Given the description of an element on the screen output the (x, y) to click on. 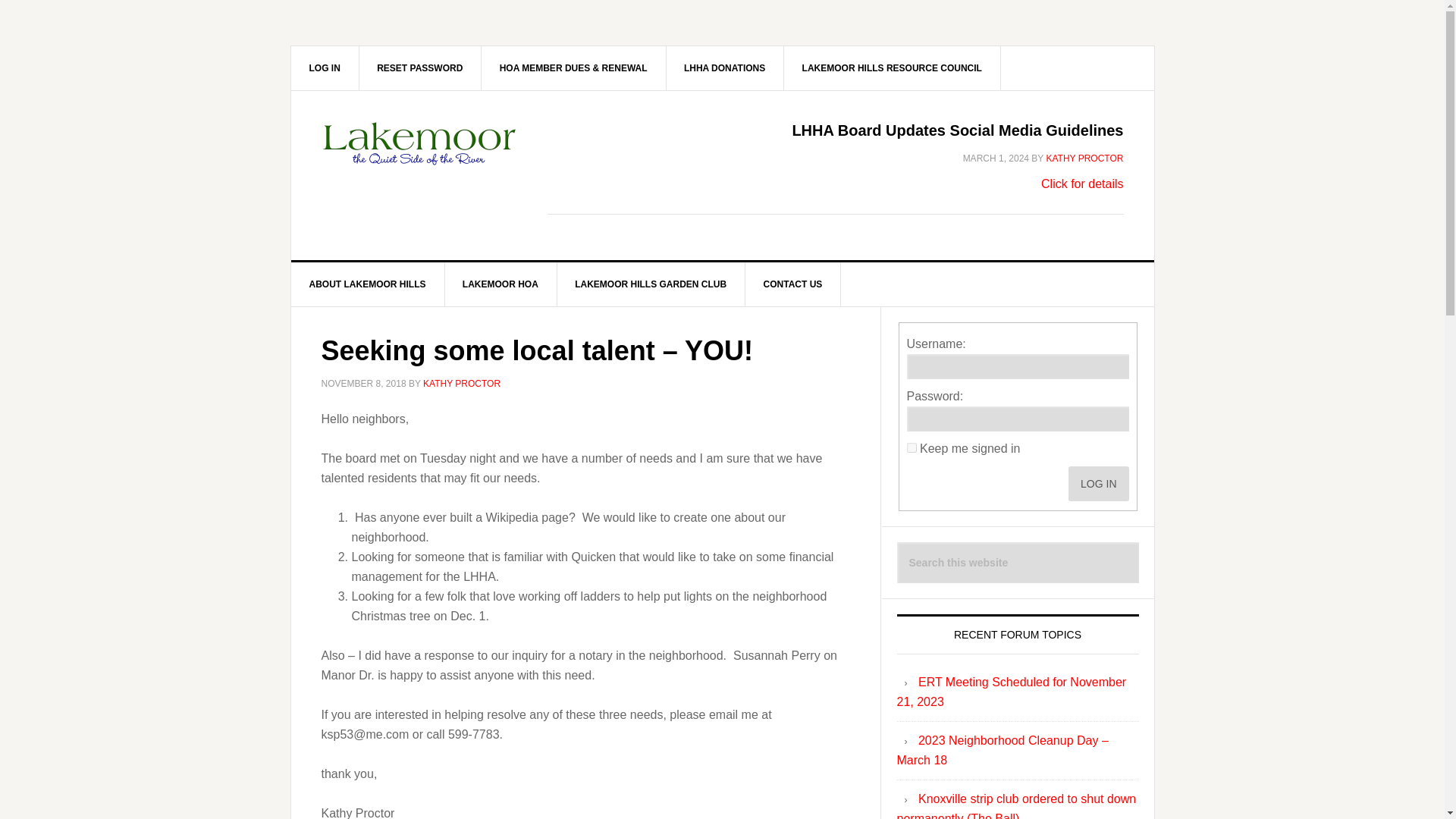
LOG IN (325, 67)
ERT Meeting Scheduled for November 21, 2023 (1010, 691)
LHHA DONATIONS (724, 67)
LHHA Board Updates Social Media Guidelines (957, 130)
LAKEMOOR HILLS GARDEN CLUB (650, 284)
LAKEMOOR HILLS (419, 155)
KATHY PROCTOR (461, 382)
LOG IN (1098, 483)
LAKEMOOR HILLS RESOURCE COUNCIL (892, 67)
CONTACT US (793, 284)
ABOUT LAKEMOOR HILLS (368, 284)
RESET PASSWORD (419, 67)
KATHY PROCTOR (1083, 158)
